Given the description of an element on the screen output the (x, y) to click on. 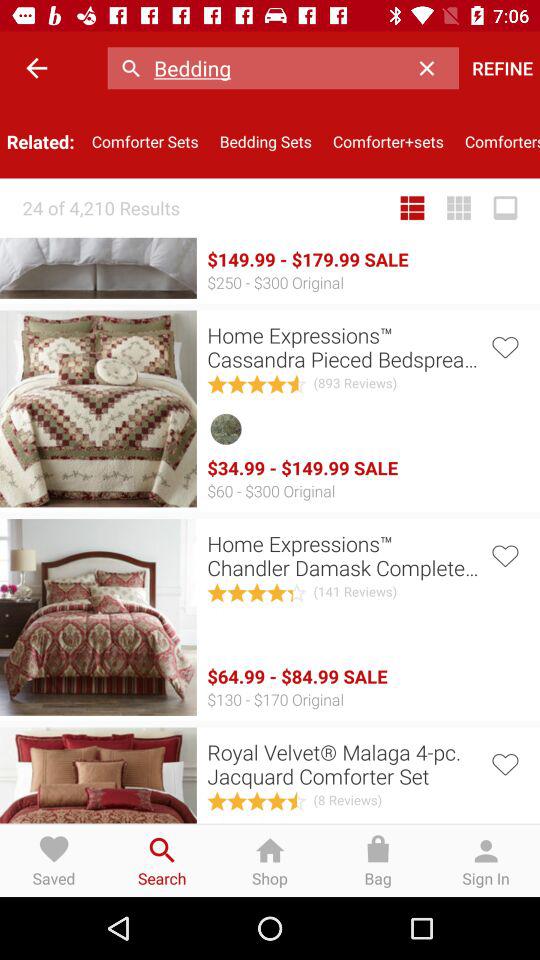
flip until the refine (502, 68)
